Given the description of an element on the screen output the (x, y) to click on. 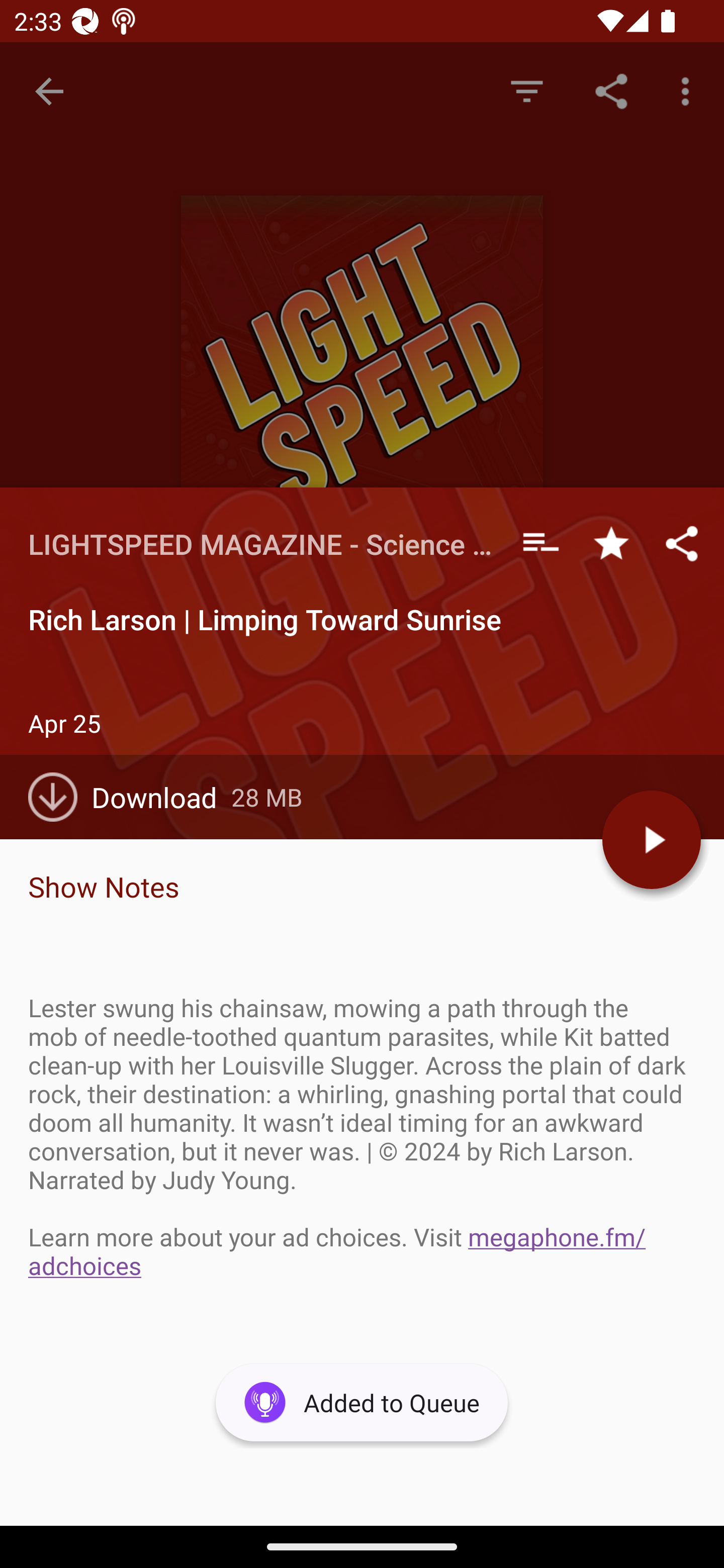
Download (129, 797)
